Given the description of an element on the screen output the (x, y) to click on. 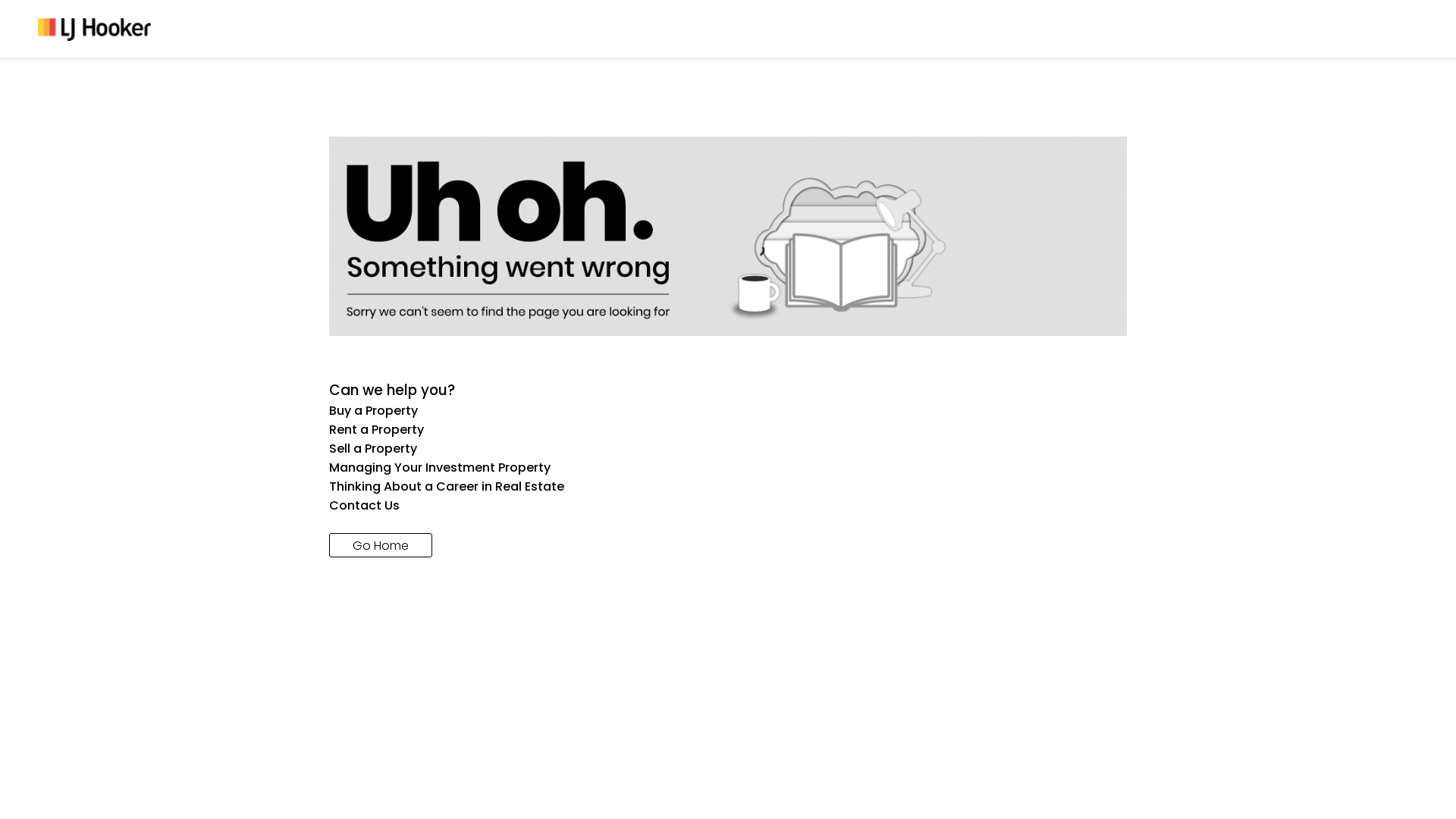
Go Home Element type: text (380, 545)
Managing Your Investment Property Element type: text (727, 467)
Contact Us Element type: text (727, 504)
Thinking About a Career in Real Estate Element type: text (727, 485)
Buy a Property Element type: text (727, 410)
Rent a Property Element type: text (727, 429)
Sell a Property Element type: text (727, 448)
